Given the description of an element on the screen output the (x, y) to click on. 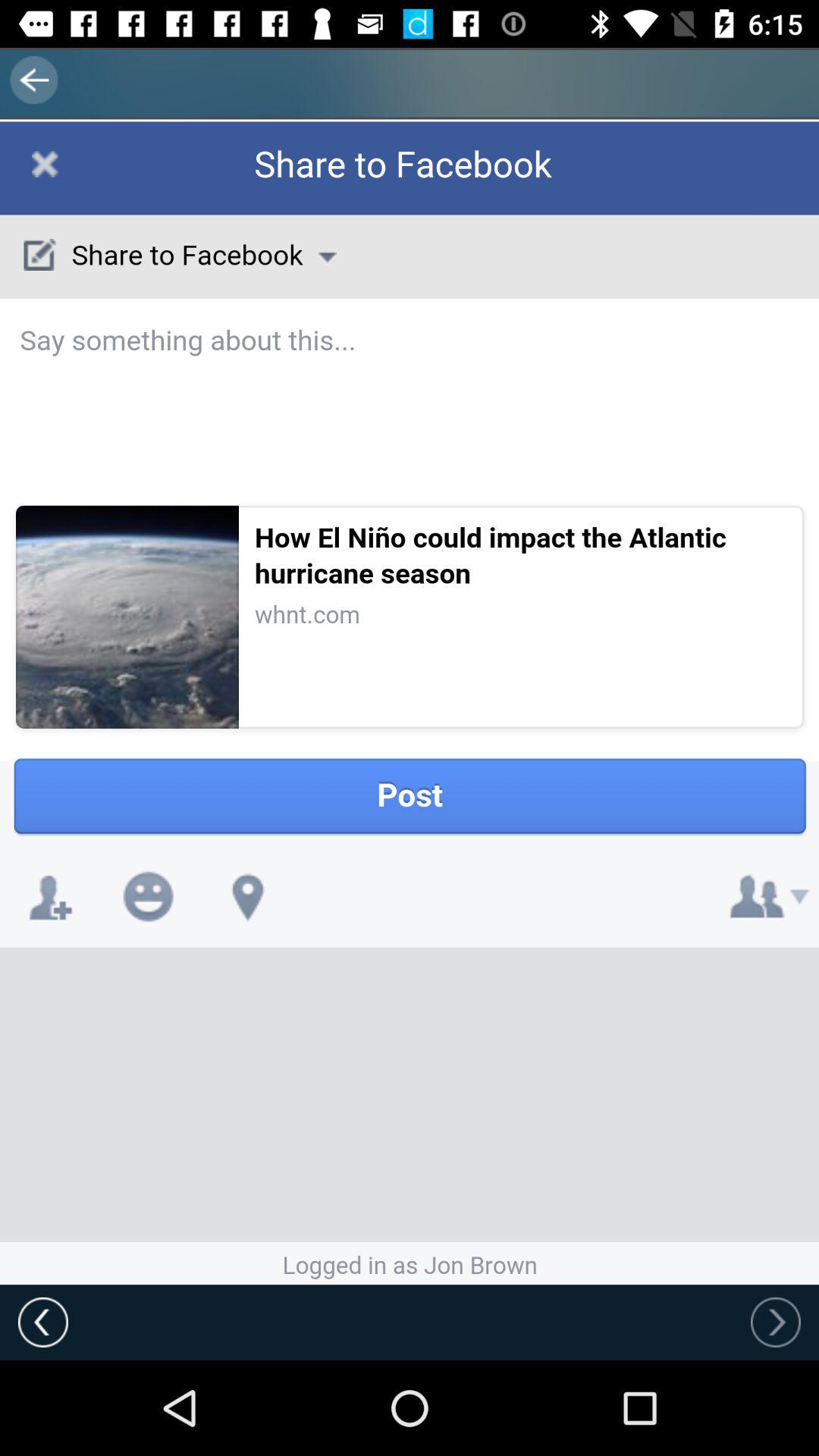
close window (99, 182)
